Given the description of an element on the screen output the (x, y) to click on. 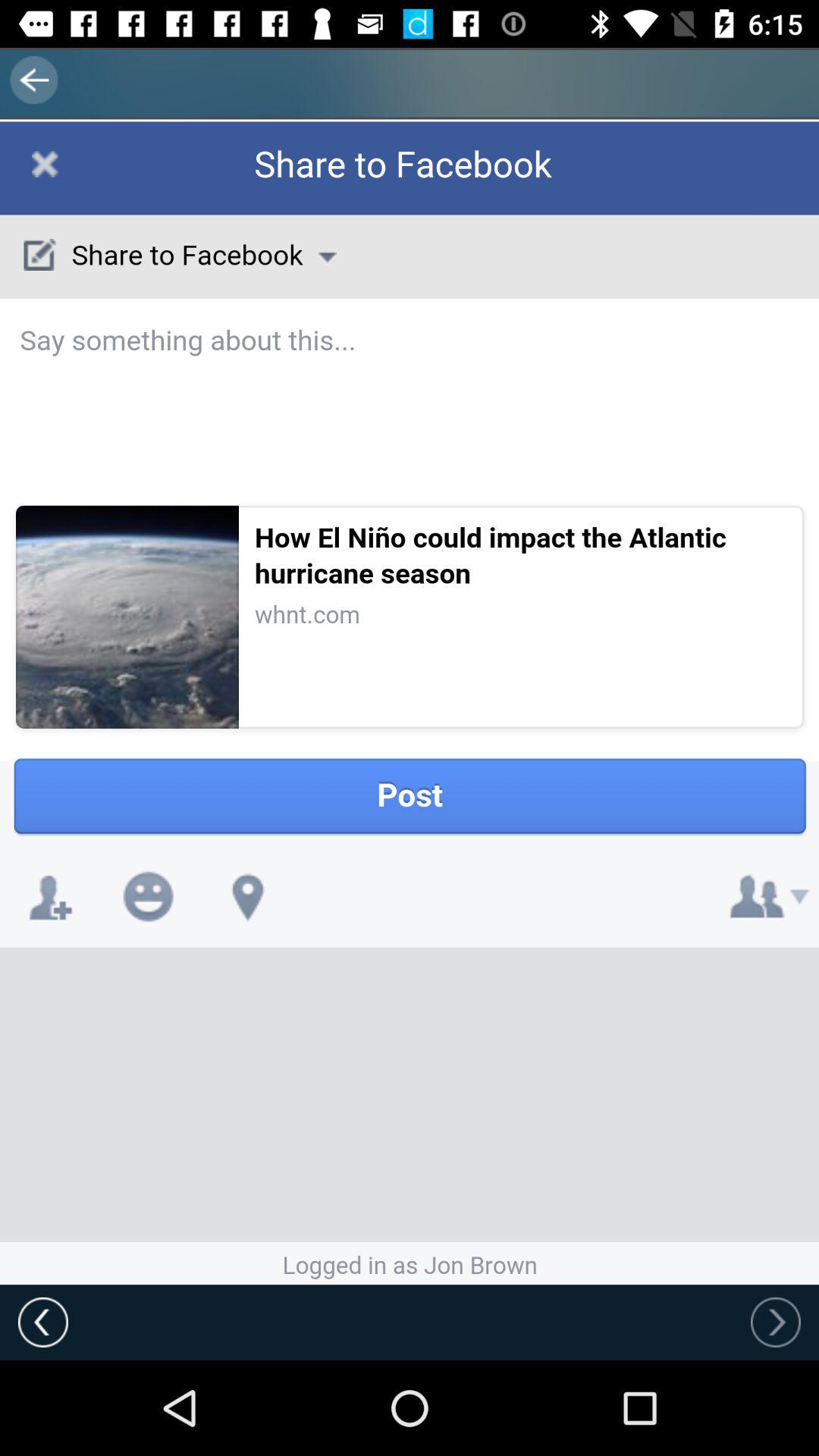
close window (99, 182)
